Given the description of an element on the screen output the (x, y) to click on. 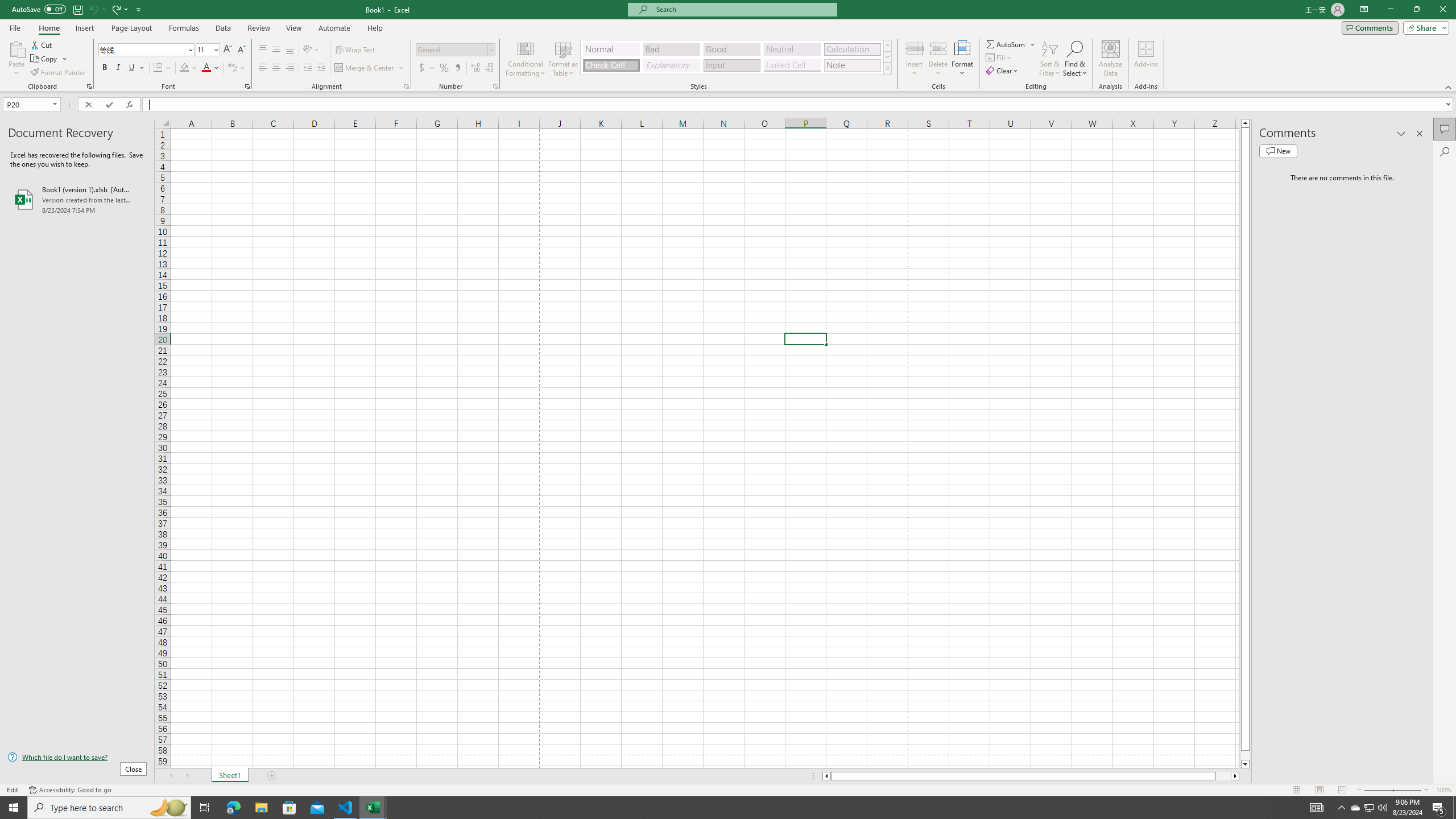
Orientation (311, 49)
Note (852, 65)
Zoom Out (1377, 790)
Normal (1296, 790)
Insert (83, 28)
Bad (671, 49)
Line down (1245, 764)
Fill (999, 56)
Bold (104, 67)
Bottom Align (290, 49)
Linked Cell (791, 65)
Number Format (451, 49)
Customize Quick Access Toolbar (139, 9)
Book1 (version 1).xlsb  [AutoRecovered] (77, 199)
